Given the description of an element on the screen output the (x, y) to click on. 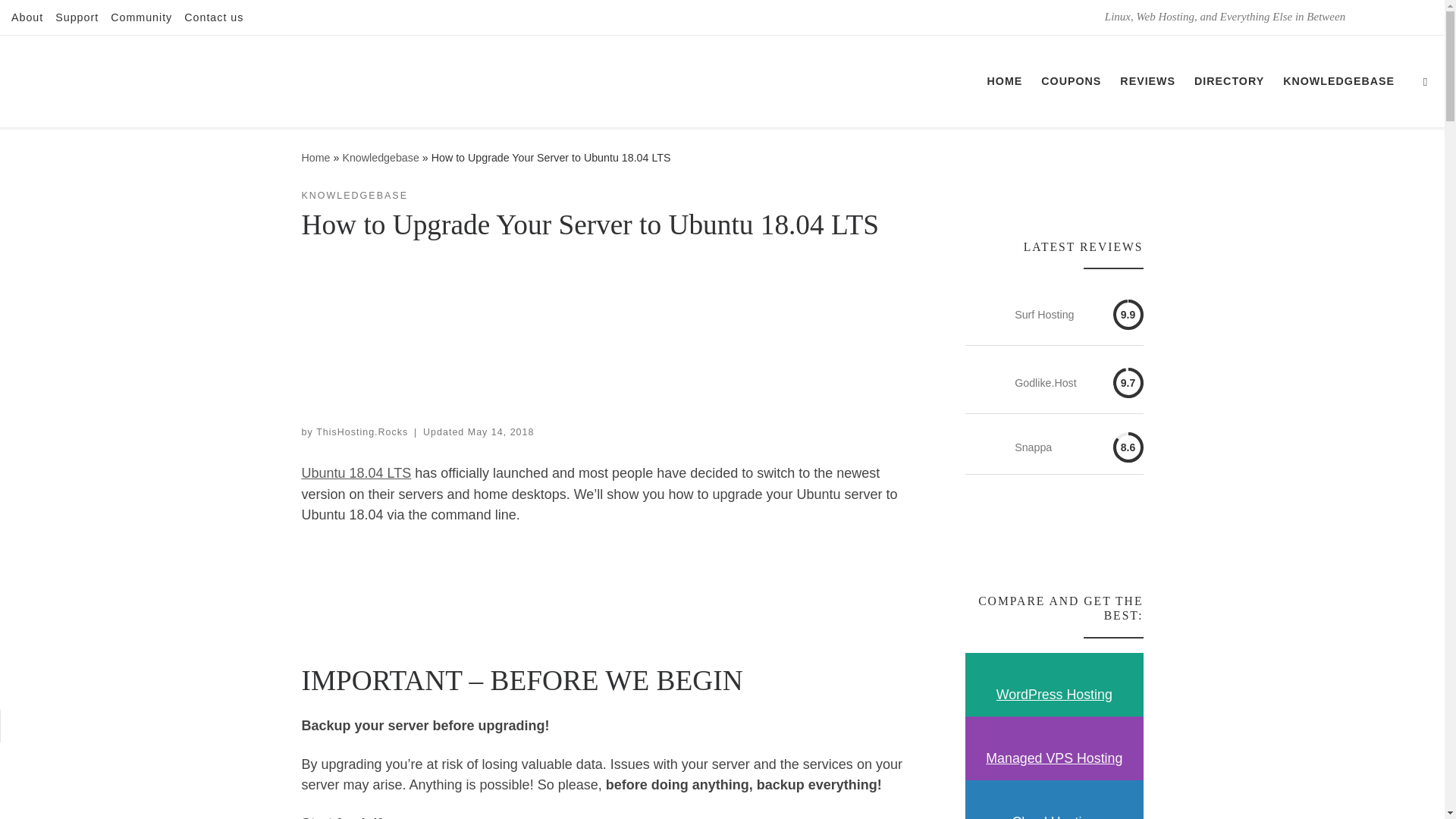
HOME (1003, 81)
Knowledgebase (380, 157)
ThisHosting.Rocks (315, 157)
KNOWLEDGEBASE (1338, 81)
Support (76, 17)
DIRECTORY (1229, 81)
May 14, 2018 (500, 431)
COUPONS (1071, 81)
Home (315, 157)
Community (140, 17)
